Given the description of an element on the screen output the (x, y) to click on. 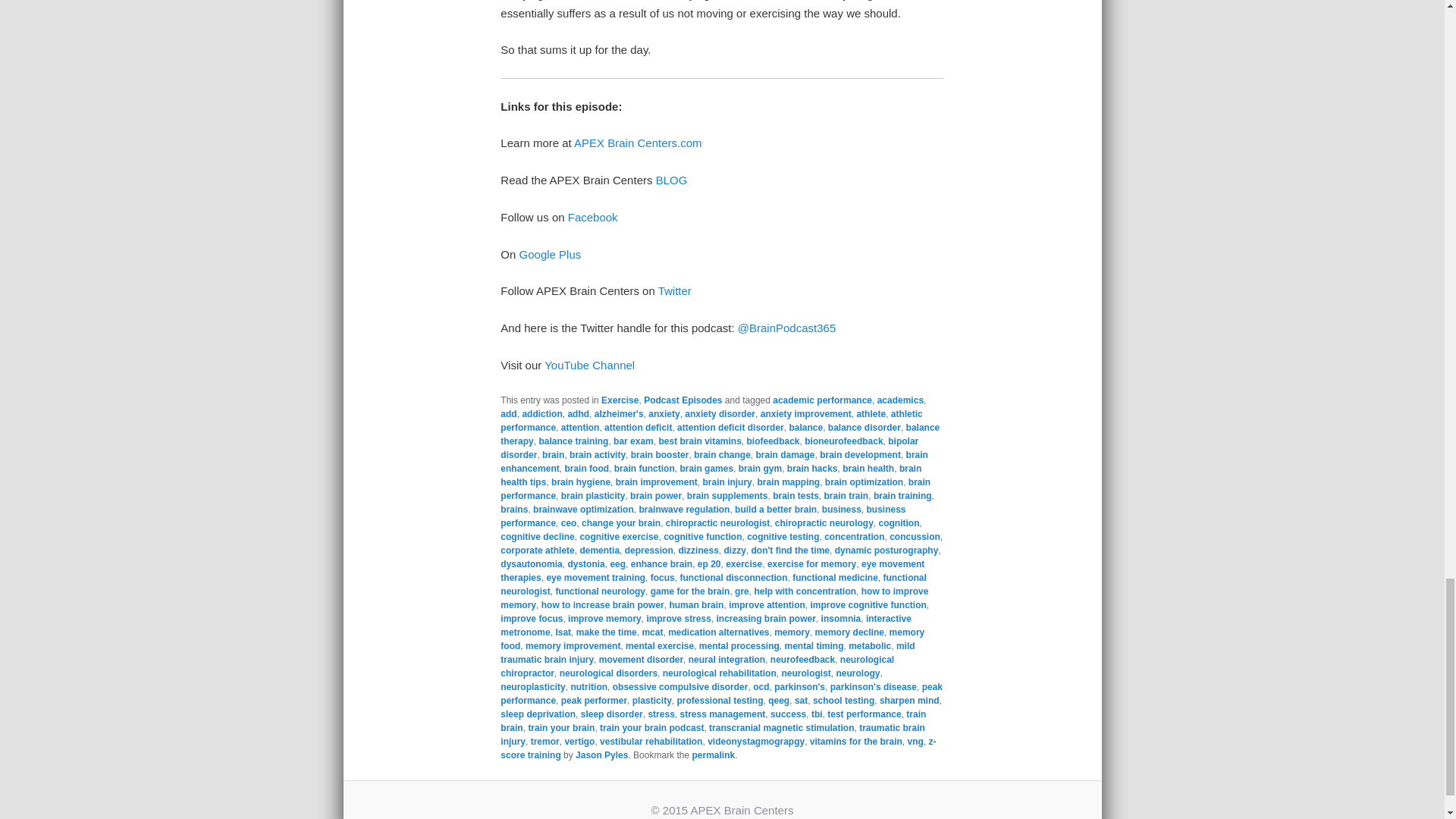
add (508, 413)
balance disorder (864, 427)
balance therapy (719, 434)
academic performance (822, 399)
balance (805, 427)
Twitter (674, 290)
anxiety improvement (805, 413)
Facebook (592, 216)
athlete (870, 413)
APEX Brain Centers.com (637, 142)
